Given the description of an element on the screen output the (x, y) to click on. 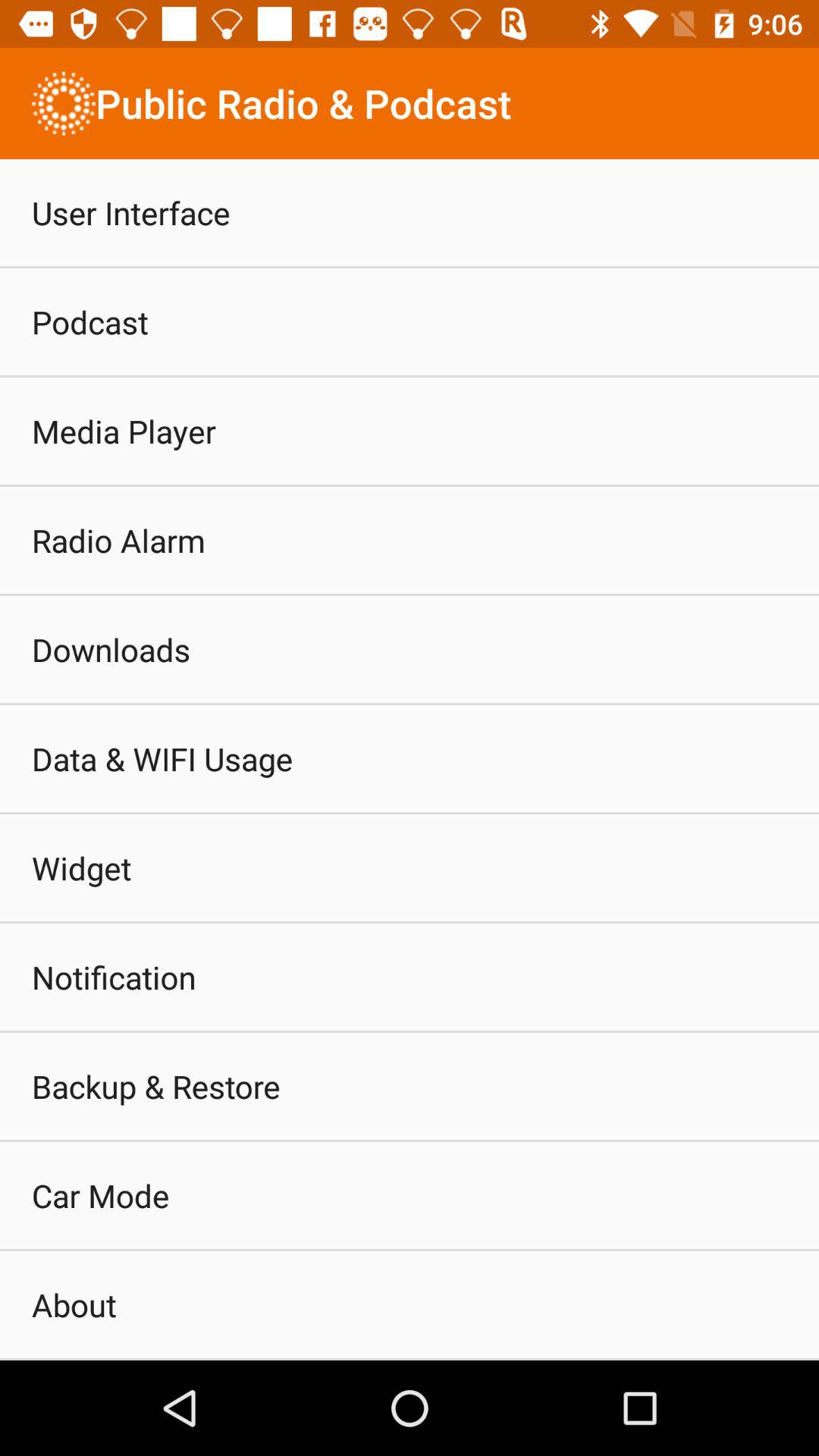
press item below the radio alarm app (110, 649)
